Given the description of an element on the screen output the (x, y) to click on. 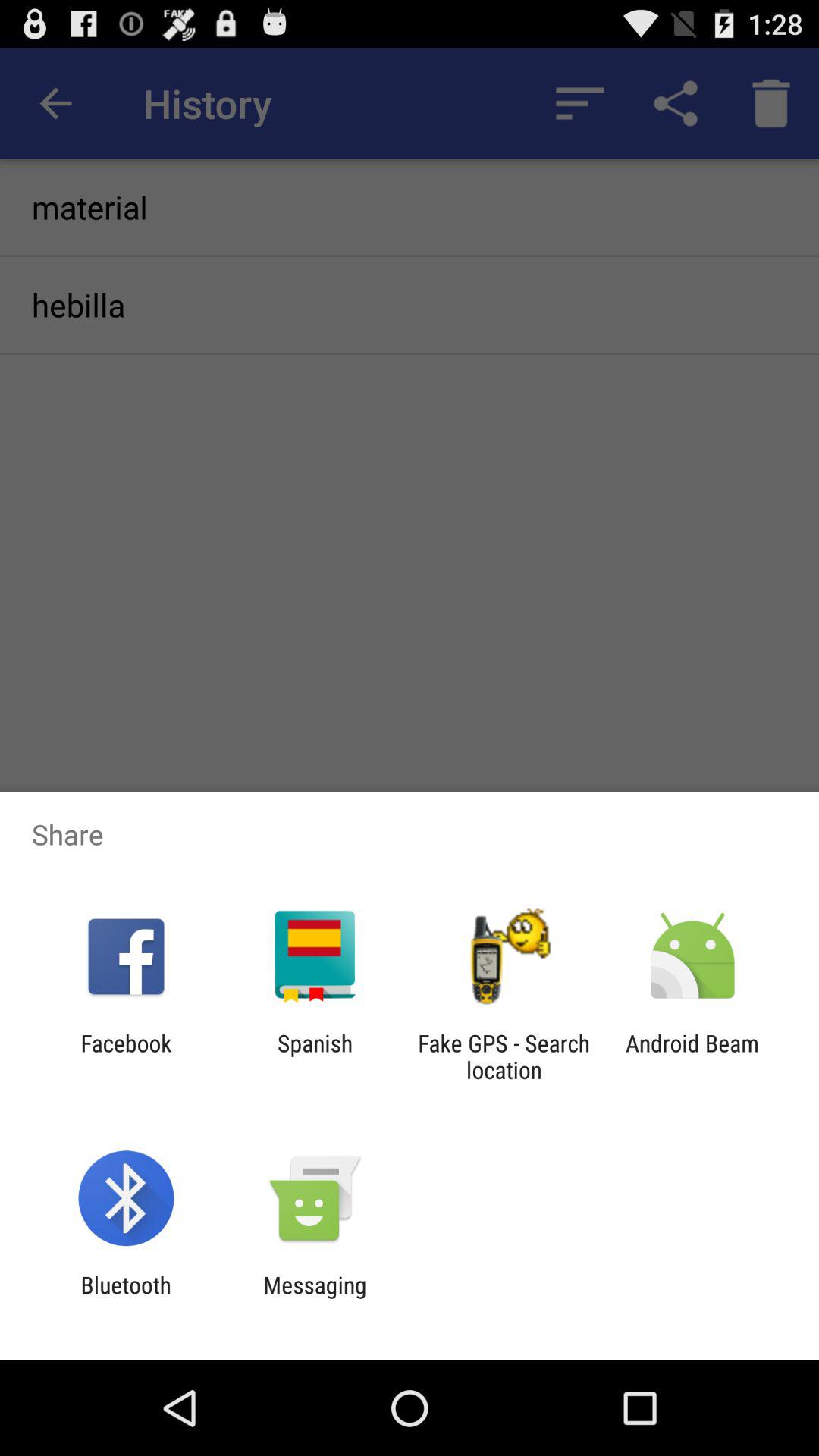
choose bluetooth item (125, 1298)
